Given the description of an element on the screen output the (x, y) to click on. 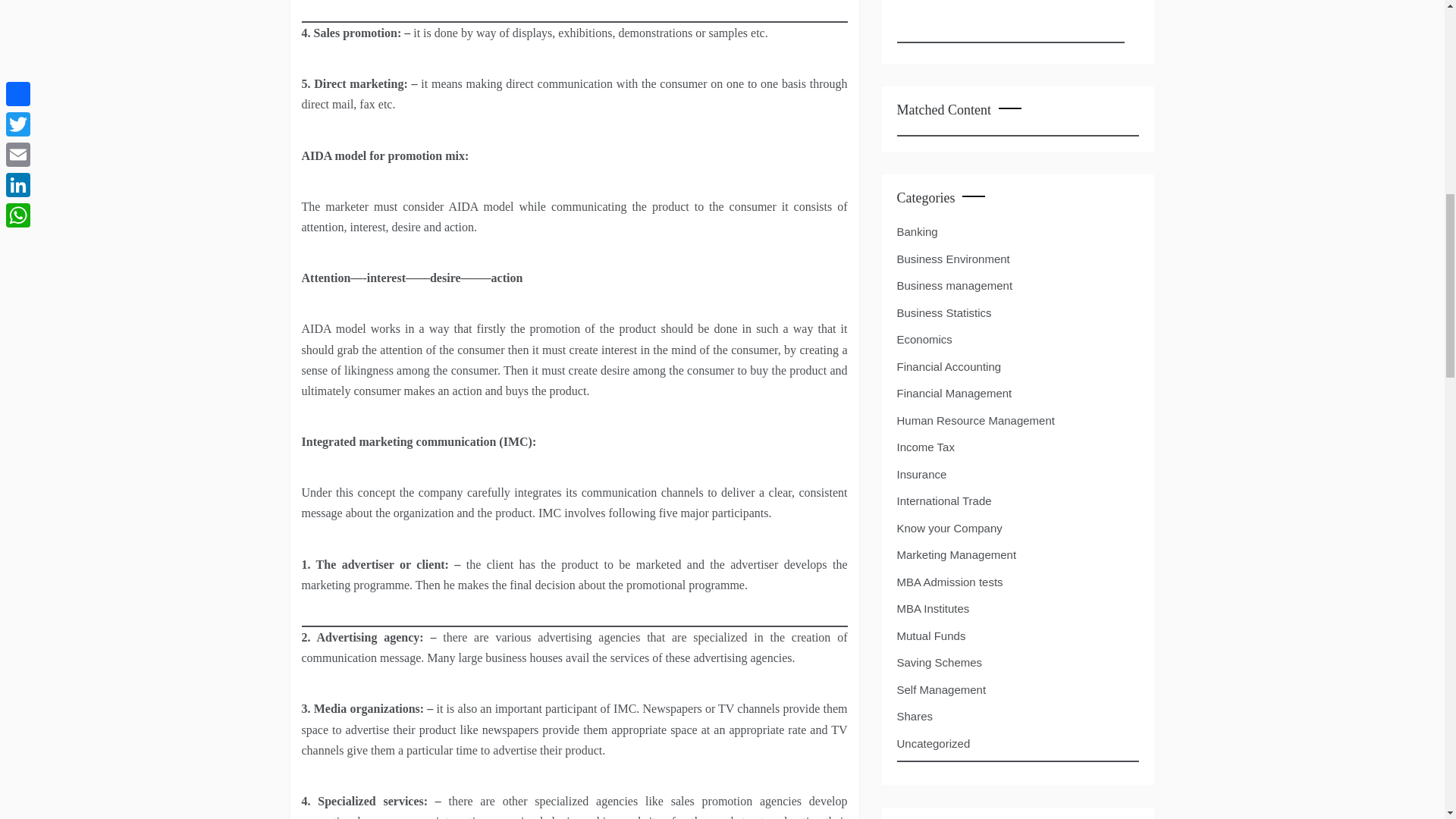
Advertisement (1010, 21)
Business Environment (952, 259)
Banking (916, 231)
Business management (953, 285)
